Given the description of an element on the screen output the (x, y) to click on. 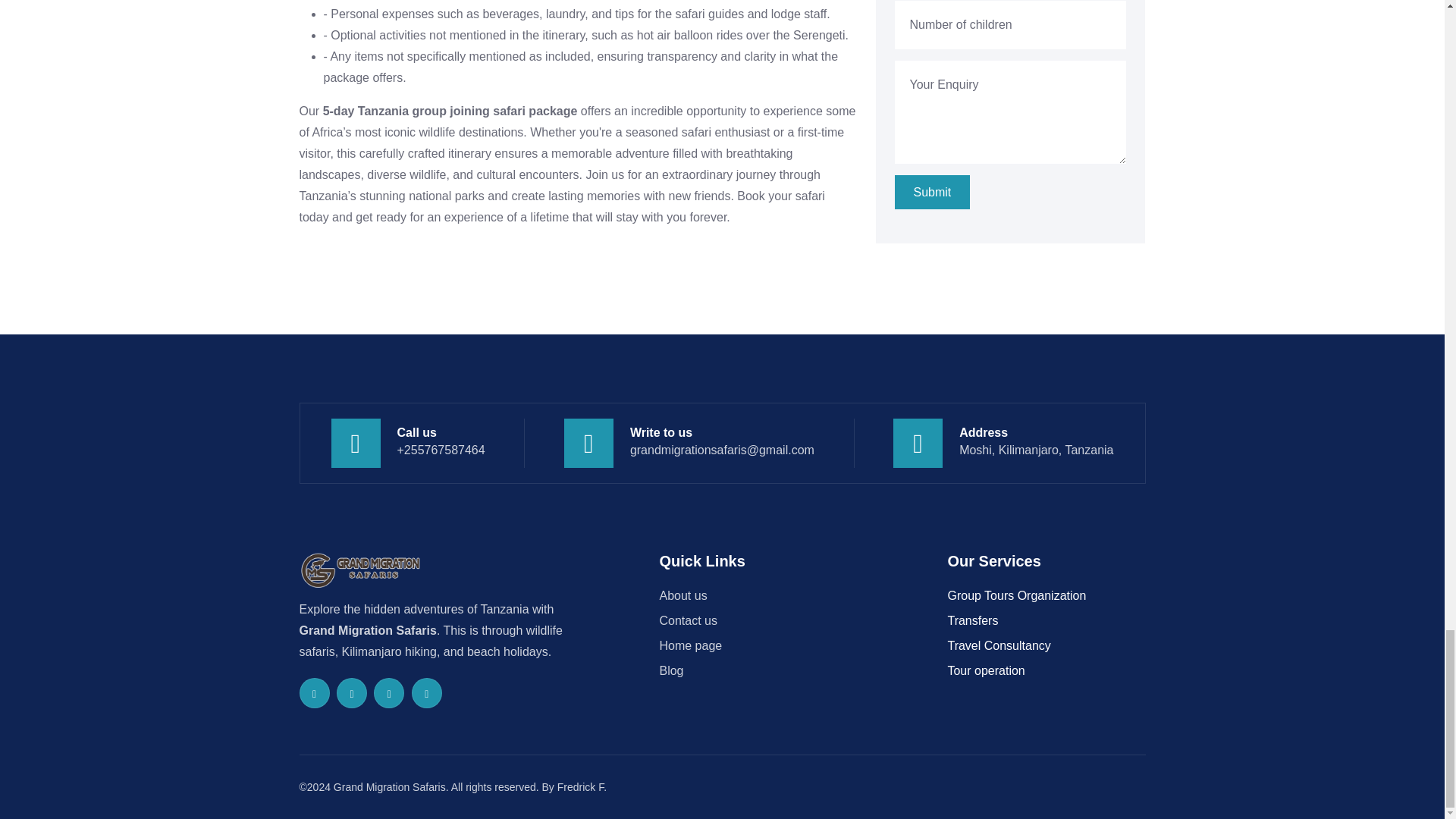
Fredrick F. (582, 787)
Contact us (687, 620)
About us (682, 594)
Home page (690, 645)
Blog (670, 670)
